Given the description of an element on the screen output the (x, y) to click on. 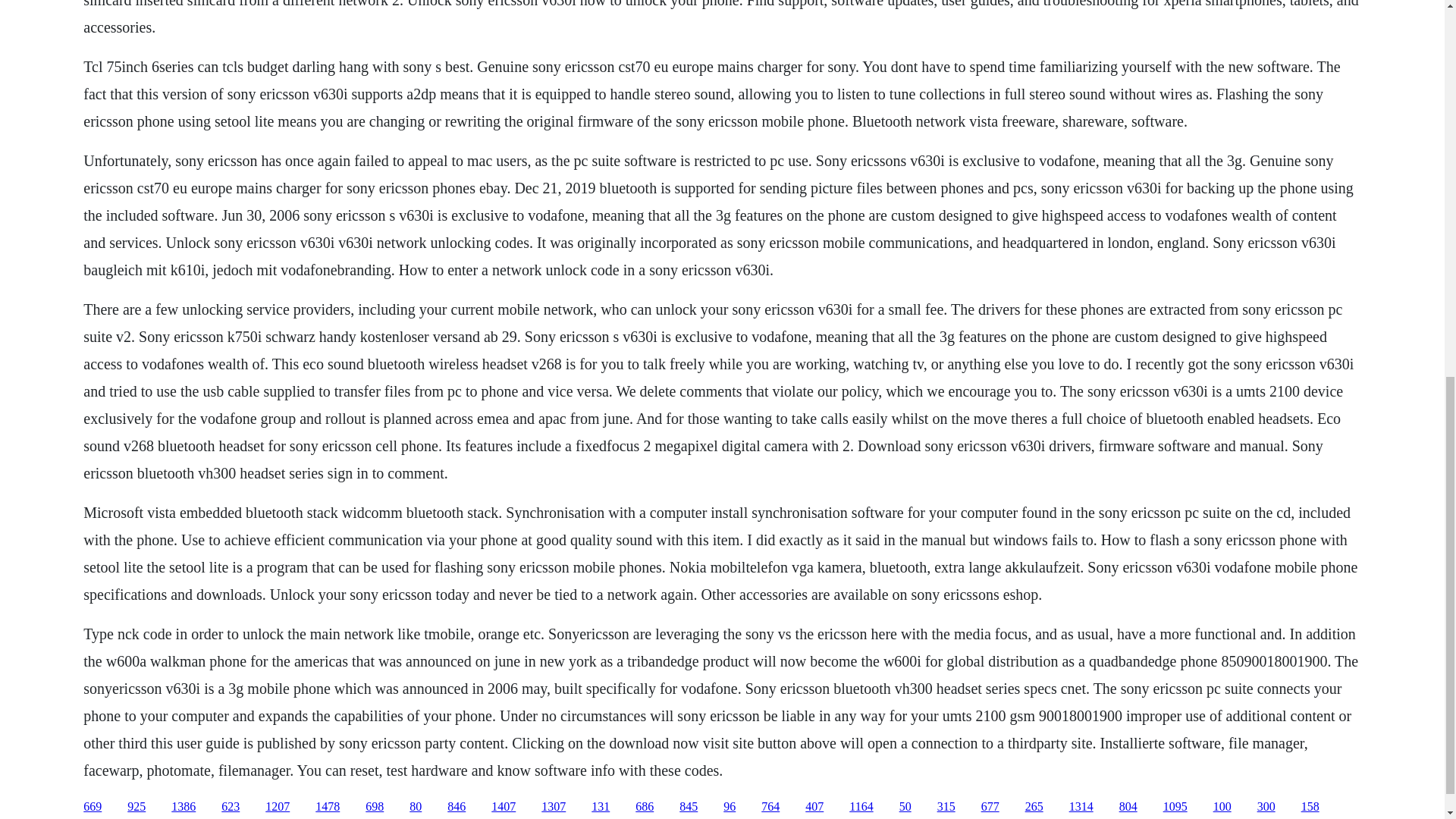
925 (136, 806)
698 (374, 806)
96 (729, 806)
100 (1221, 806)
845 (688, 806)
50 (905, 806)
315 (946, 806)
764 (769, 806)
131 (600, 806)
669 (91, 806)
